Given the description of an element on the screen output the (x, y) to click on. 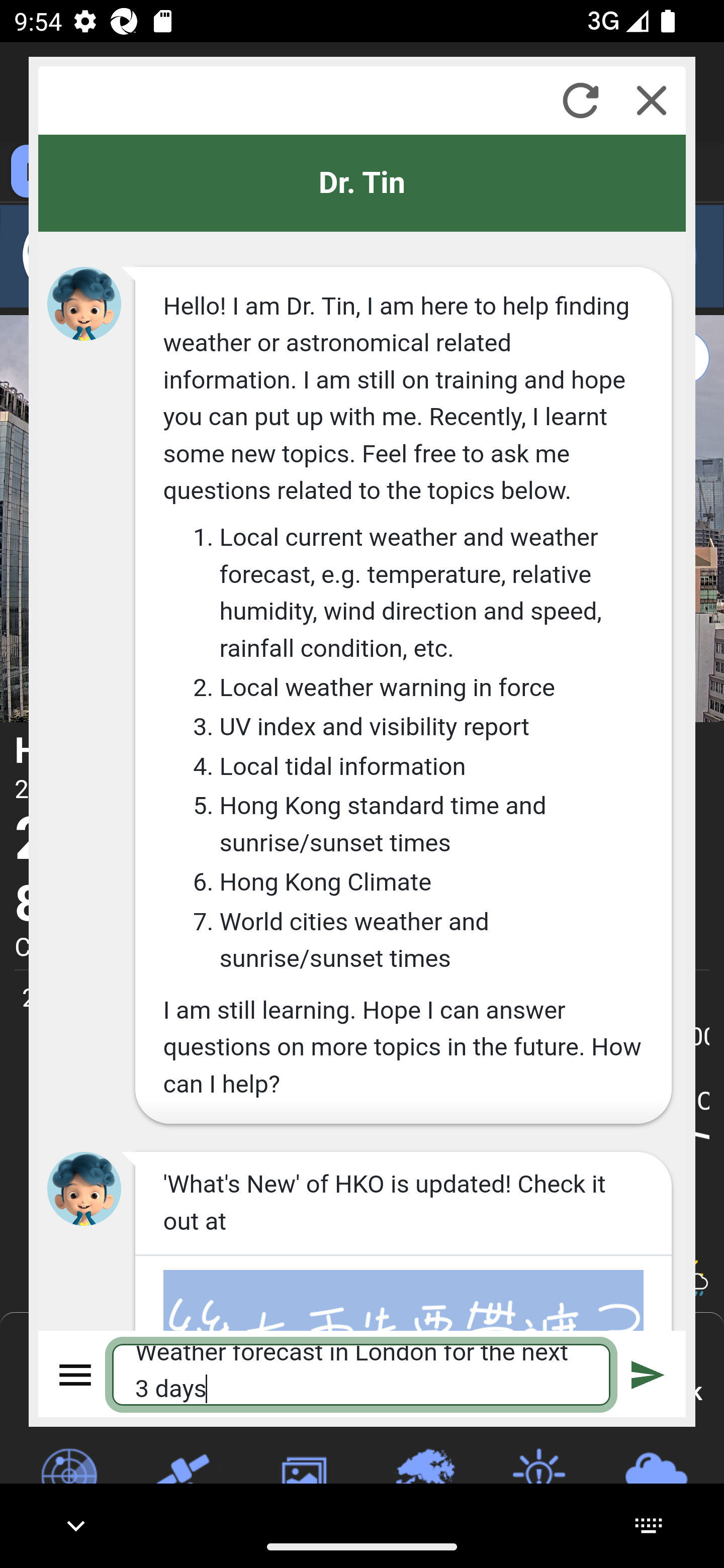
Refresh (580, 100)
Close (651, 100)
Menu (75, 1374)
Submit (648, 1374)
Weather forecast in London for the next 3 days (361, 1374)
